Given the description of an element on the screen output the (x, y) to click on. 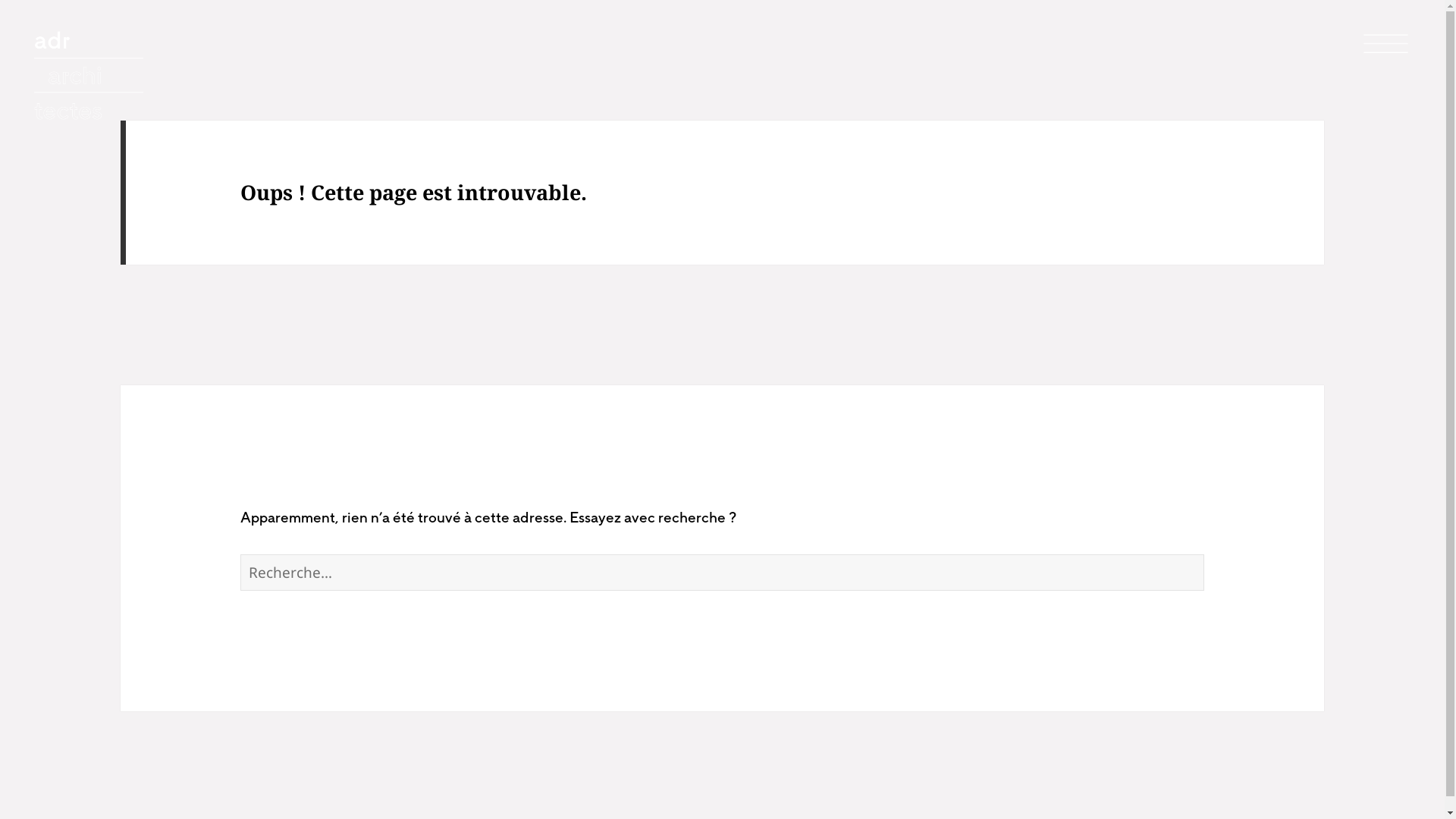
Rechercher Element type: text (1203, 553)
MENU ET WIDGETS Element type: text (1385, 43)
adr architectes Element type: text (90, 80)
